Given the description of an element on the screen output the (x, y) to click on. 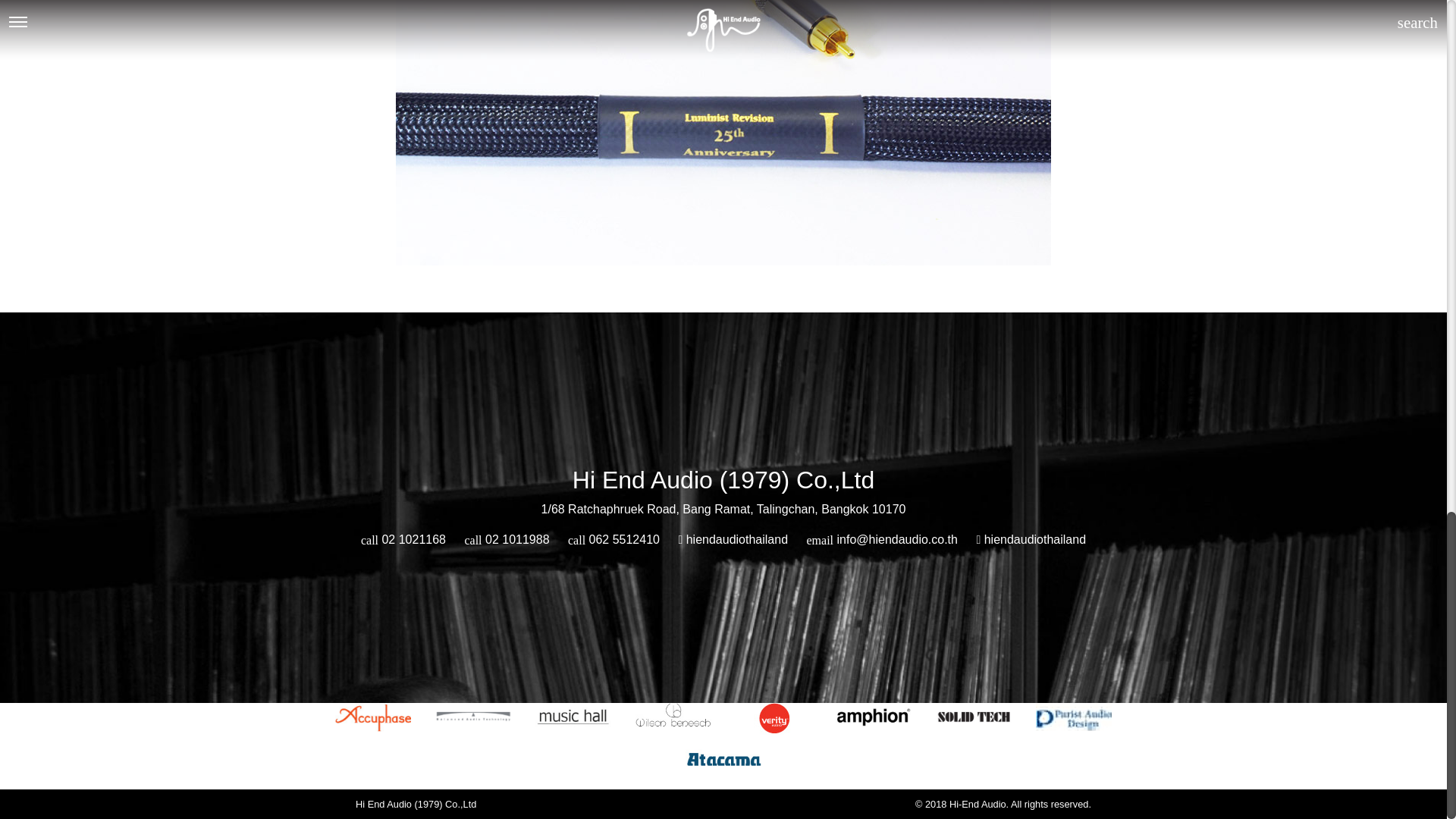
call 062 5512410 (613, 539)
hiendaudiothailand (1030, 539)
call 02 1021168 (403, 539)
hiendaudiothailand (732, 539)
call 02 1011988 (506, 539)
